Given the description of an element on the screen output the (x, y) to click on. 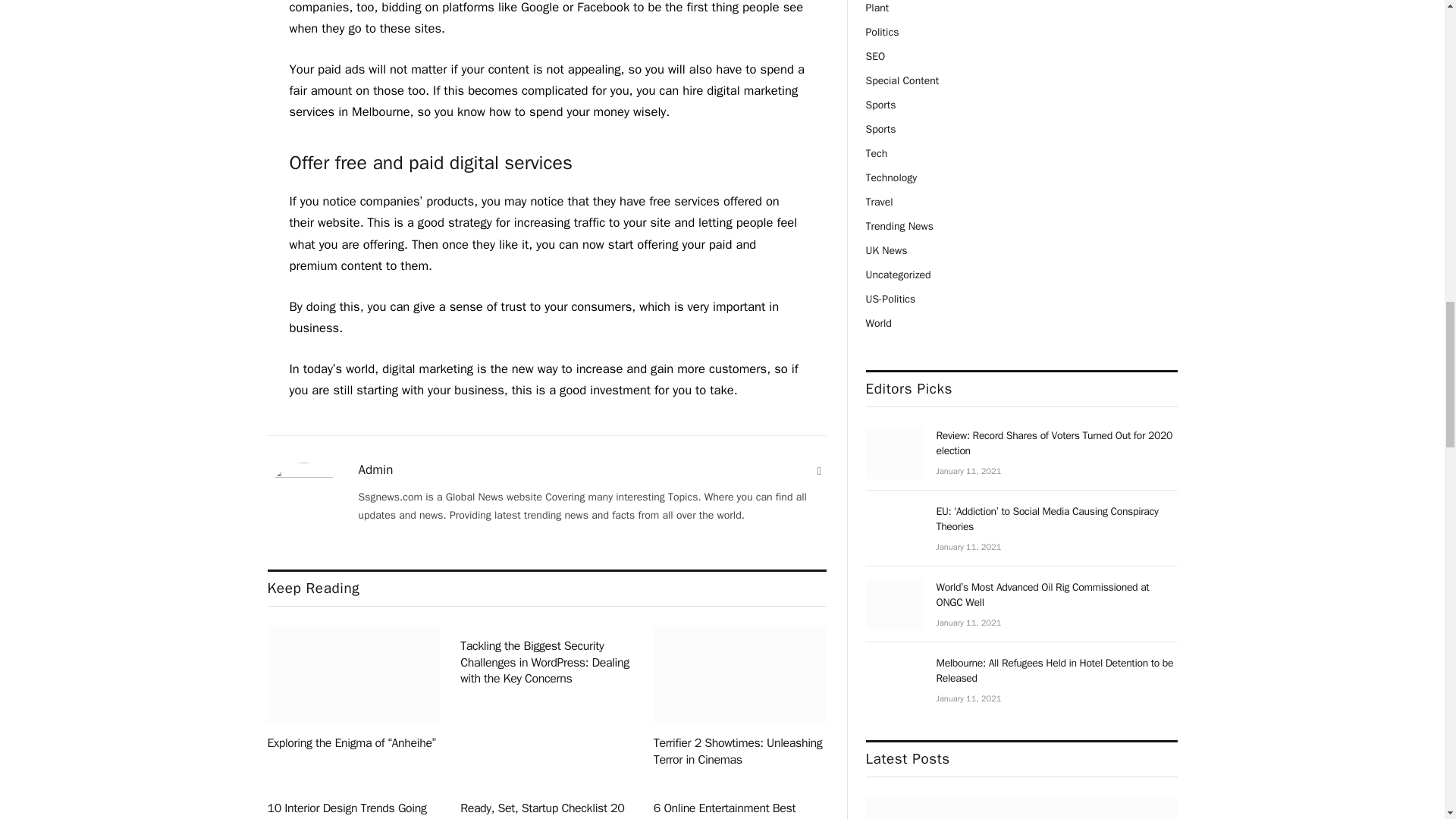
Website (818, 471)
Posts by Admin (375, 469)
